Given the description of an element on the screen output the (x, y) to click on. 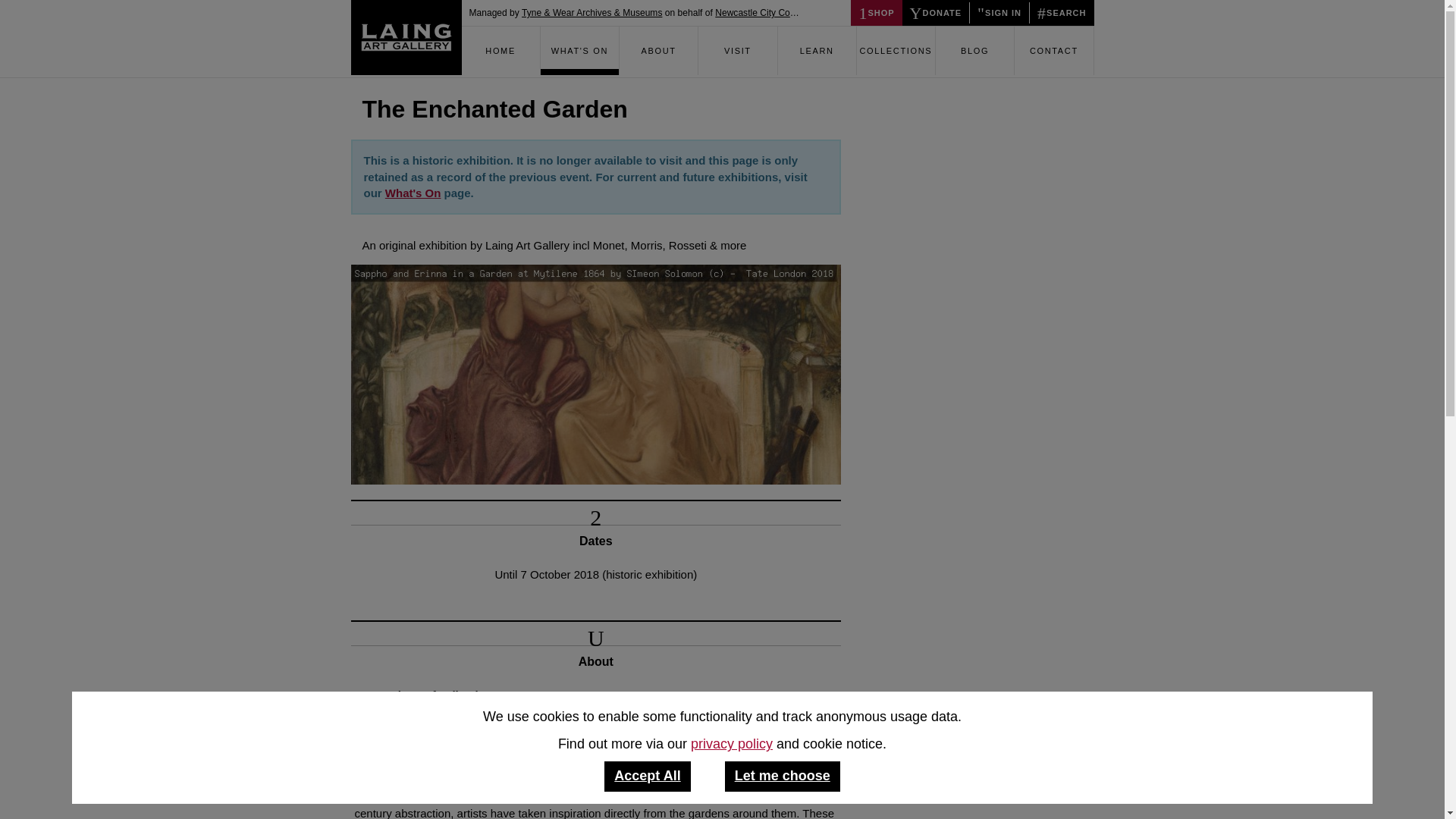
HOME (499, 50)
Sign in (982, 4)
Newcastle City Council (761, 12)
What's On (579, 50)
DONATE (935, 12)
Laing Art Gallery Homepage (499, 50)
SIGN IN (999, 12)
Visit  (737, 50)
Collections (895, 50)
SEARCH (1061, 12)
